Given the description of an element on the screen output the (x, y) to click on. 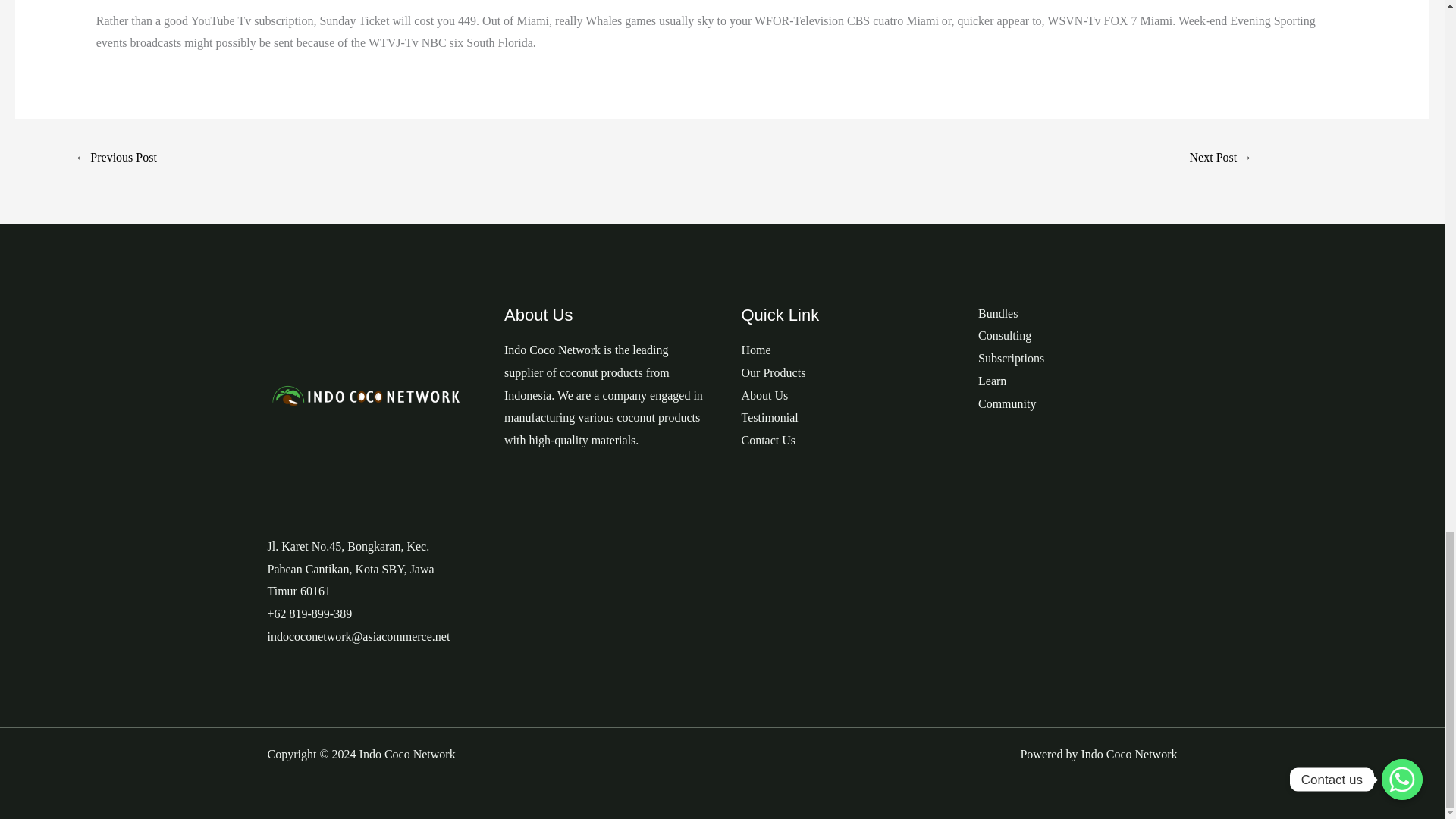
Consulting (1004, 335)
Learn (992, 380)
Community (1006, 403)
Our Products (773, 372)
Subscriptions (1010, 358)
Bundles (997, 313)
Testimonial (769, 417)
Cashman Local casino Totally free Gold coins March (1220, 158)
Contact Us (768, 440)
